Given the description of an element on the screen output the (x, y) to click on. 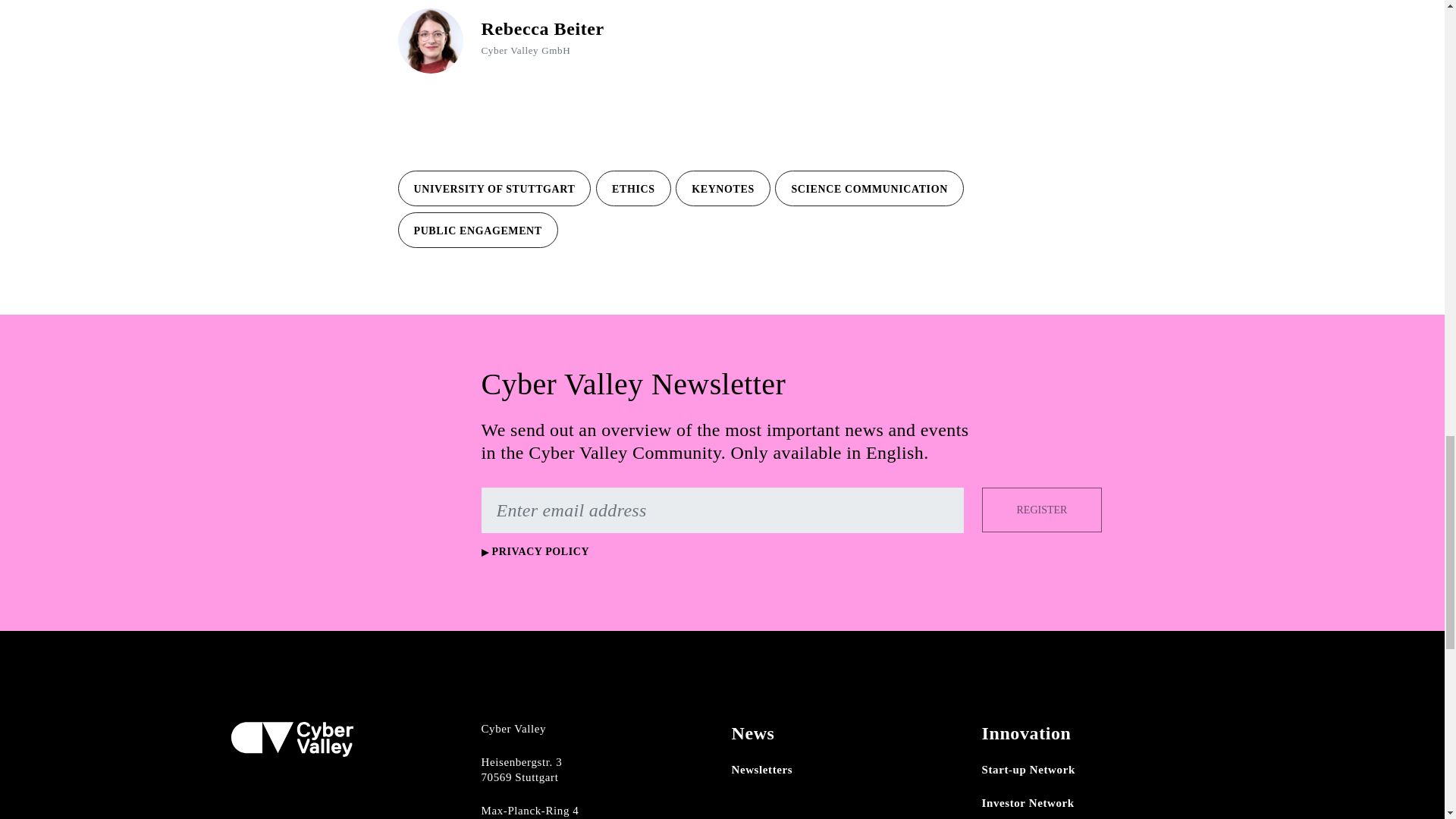
UNIVERSITY OF STUTTGART (494, 188)
Newsletters (761, 769)
Rebecca Beiter (542, 28)
PRIVACY POLICY (534, 551)
REGISTER (1041, 509)
PUBLIC ENGAGEMENT (477, 230)
News (752, 732)
SCIENCE COMMUNICATION (868, 188)
Events (758, 817)
Cyber Valley (291, 738)
